Given the description of an element on the screen output the (x, y) to click on. 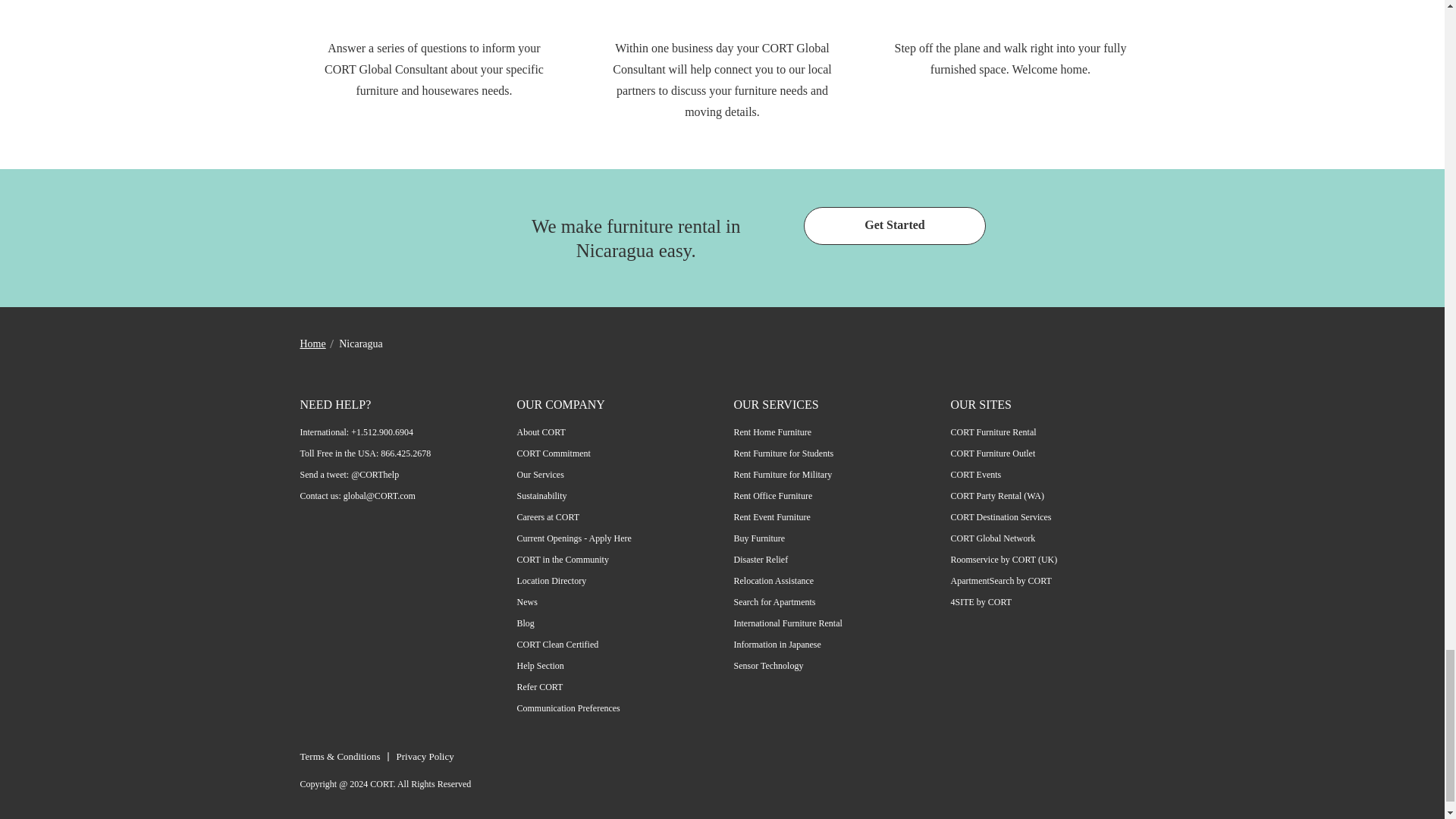
Home (312, 343)
Get Started (894, 225)
